Given the description of an element on the screen output the (x, y) to click on. 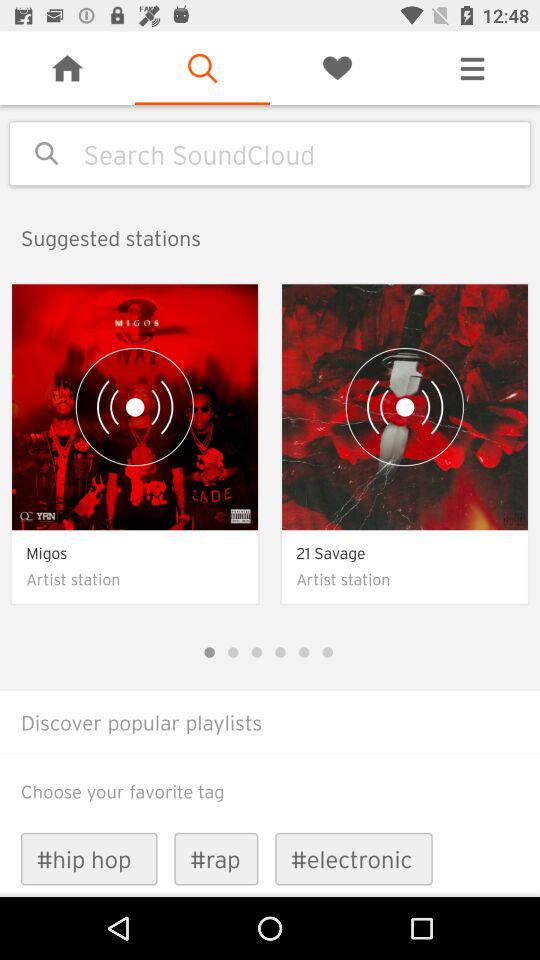
press the item to the right of #rap (353, 858)
